Given the description of an element on the screen output the (x, y) to click on. 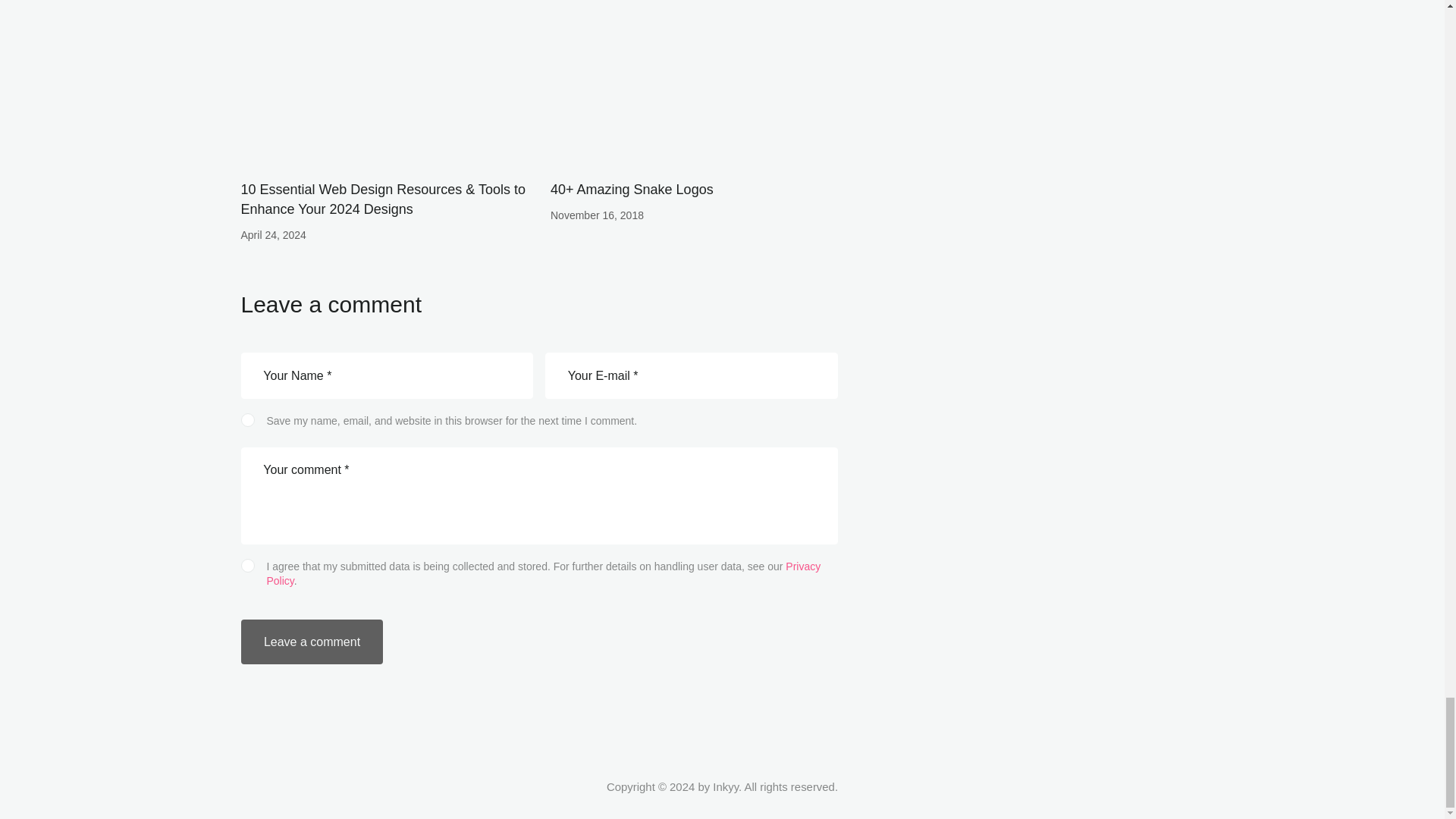
yes (245, 419)
1 (539, 564)
Leave a comment (312, 641)
